Given the description of an element on the screen output the (x, y) to click on. 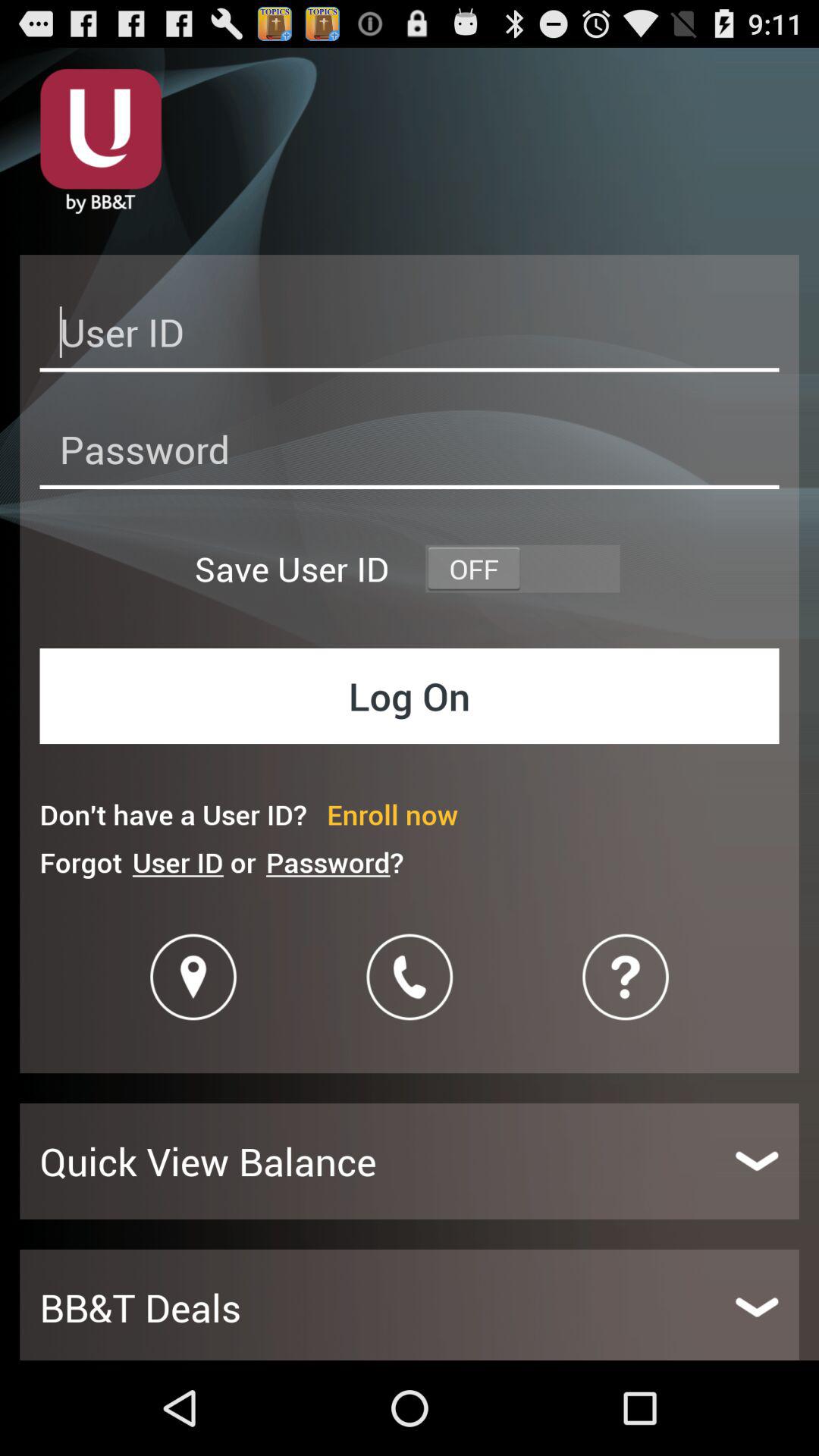
select enroll now icon (392, 814)
